Given the description of an element on the screen output the (x, y) to click on. 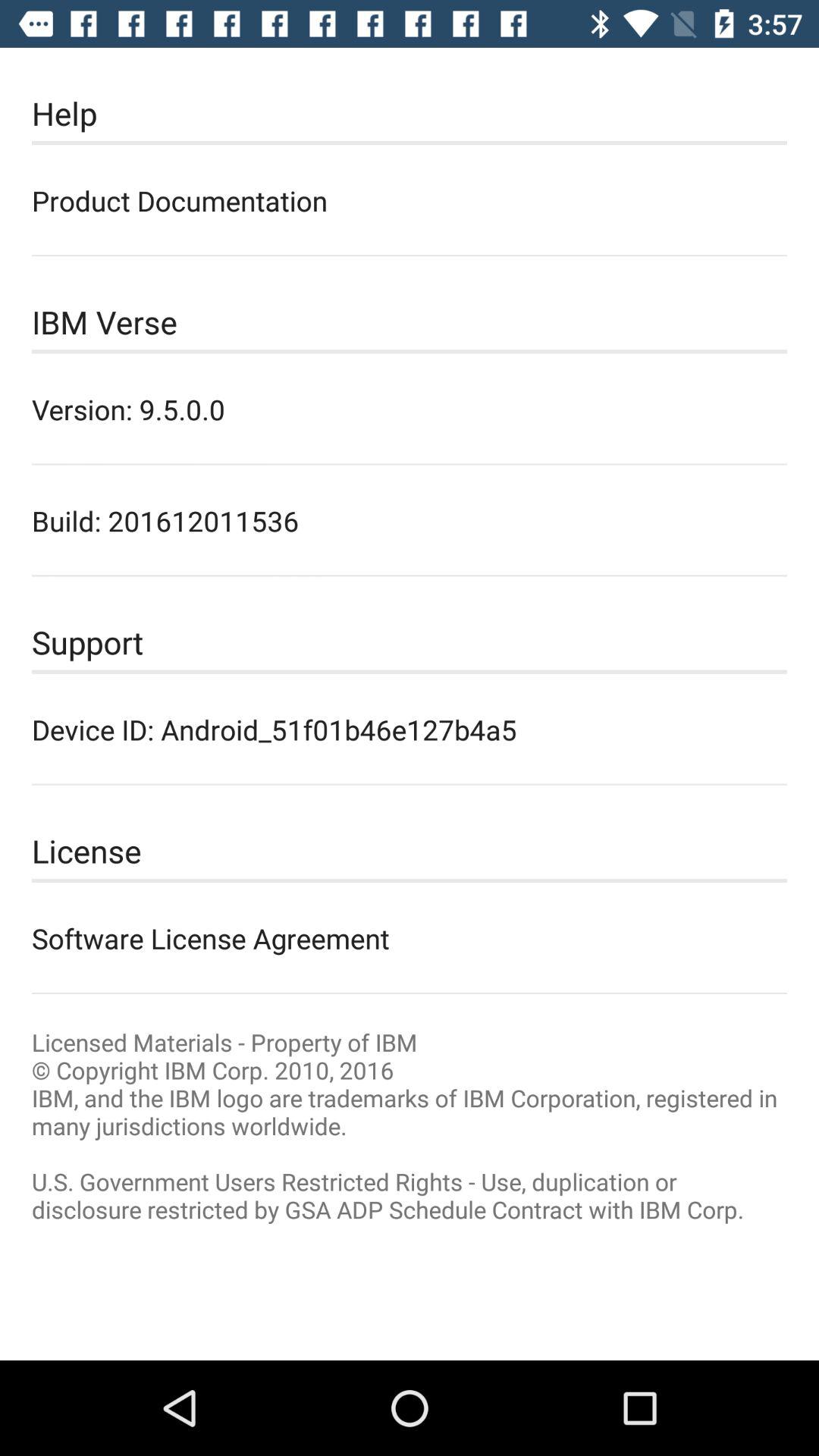
select icon below the help (409, 200)
